Given the description of an element on the screen output the (x, y) to click on. 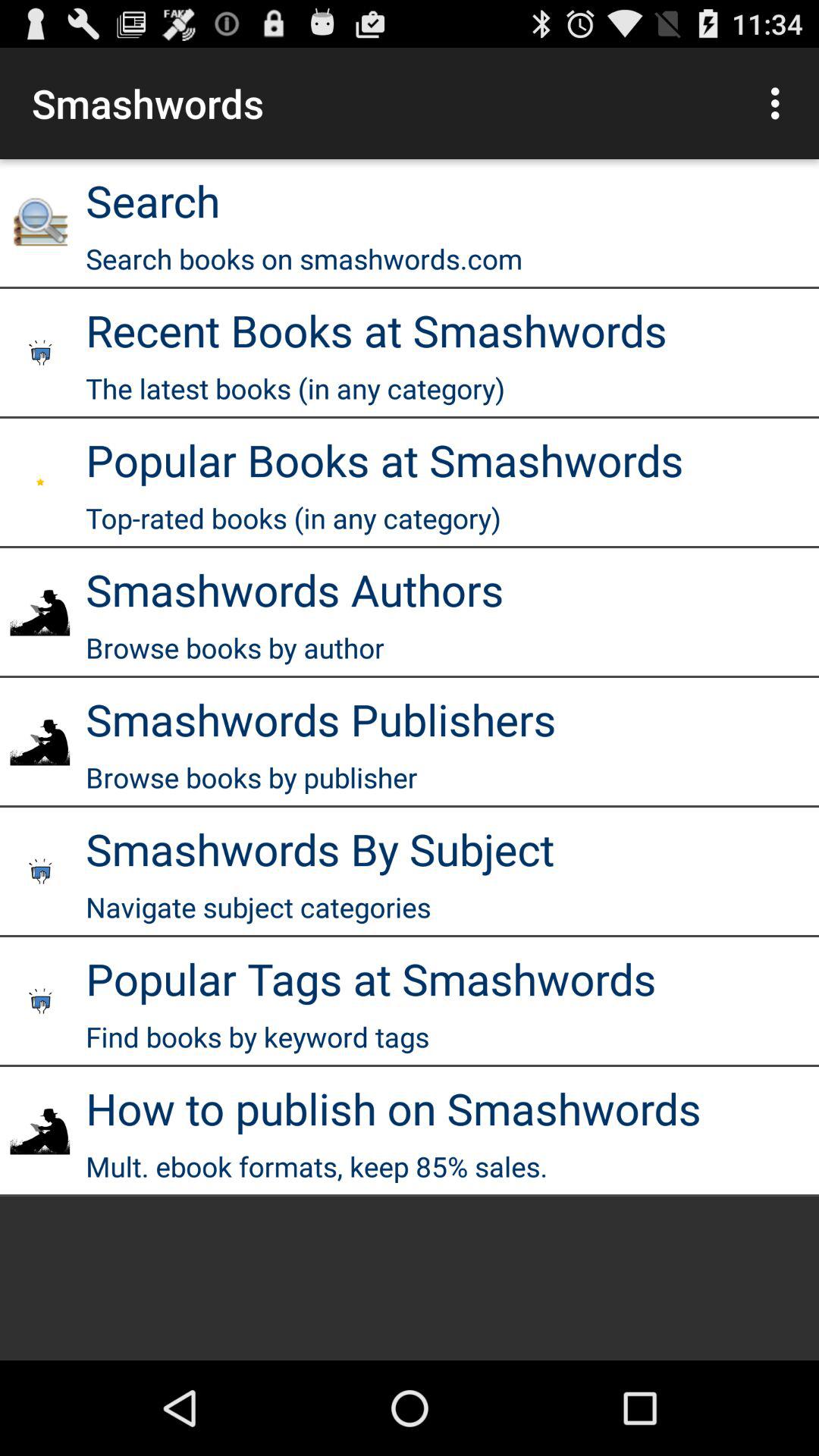
jump until top rated books item (293, 517)
